Given the description of an element on the screen output the (x, y) to click on. 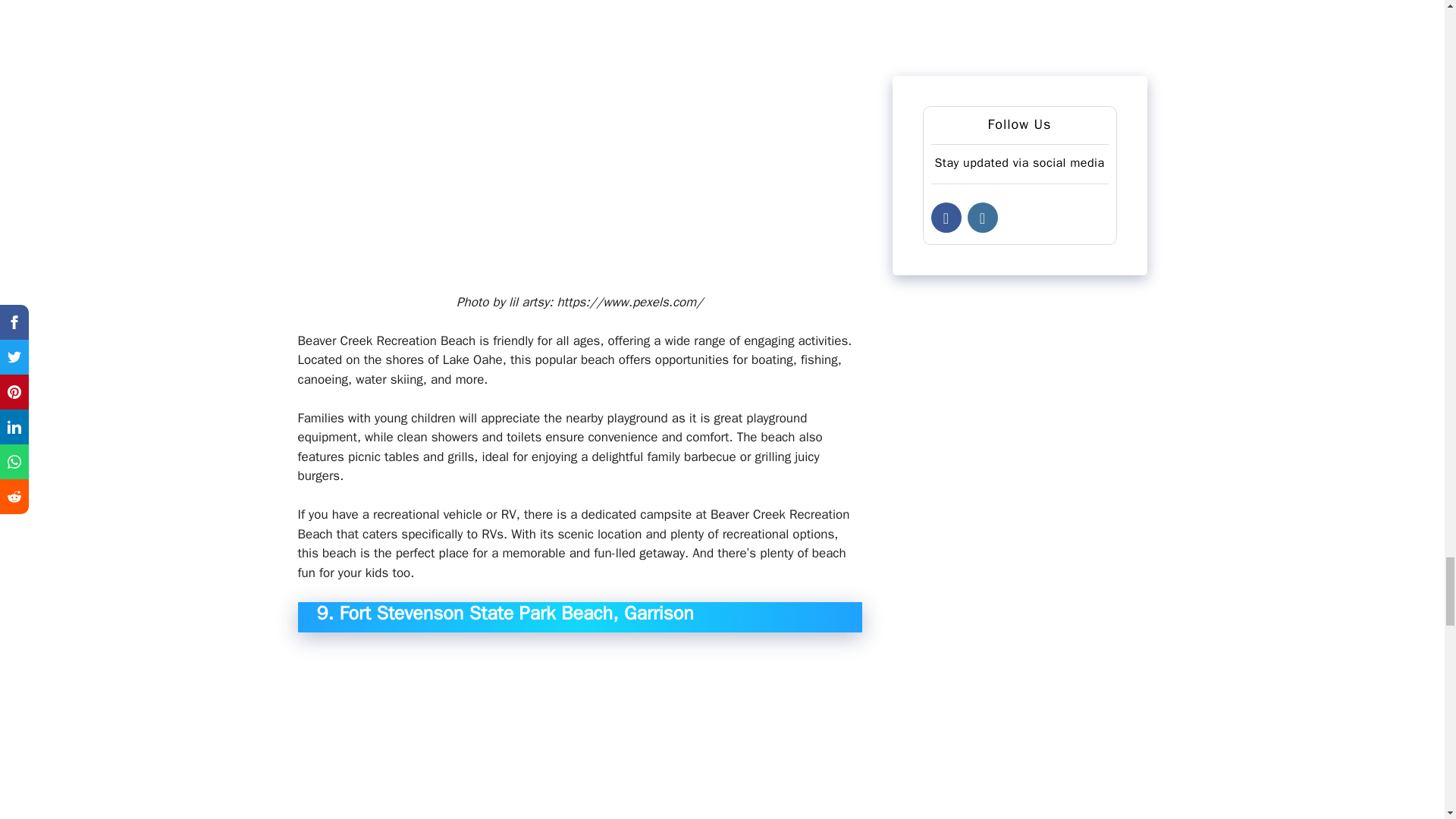
Best Family Beaches in North Dakota 10 (579, 733)
